Given the description of an element on the screen output the (x, y) to click on. 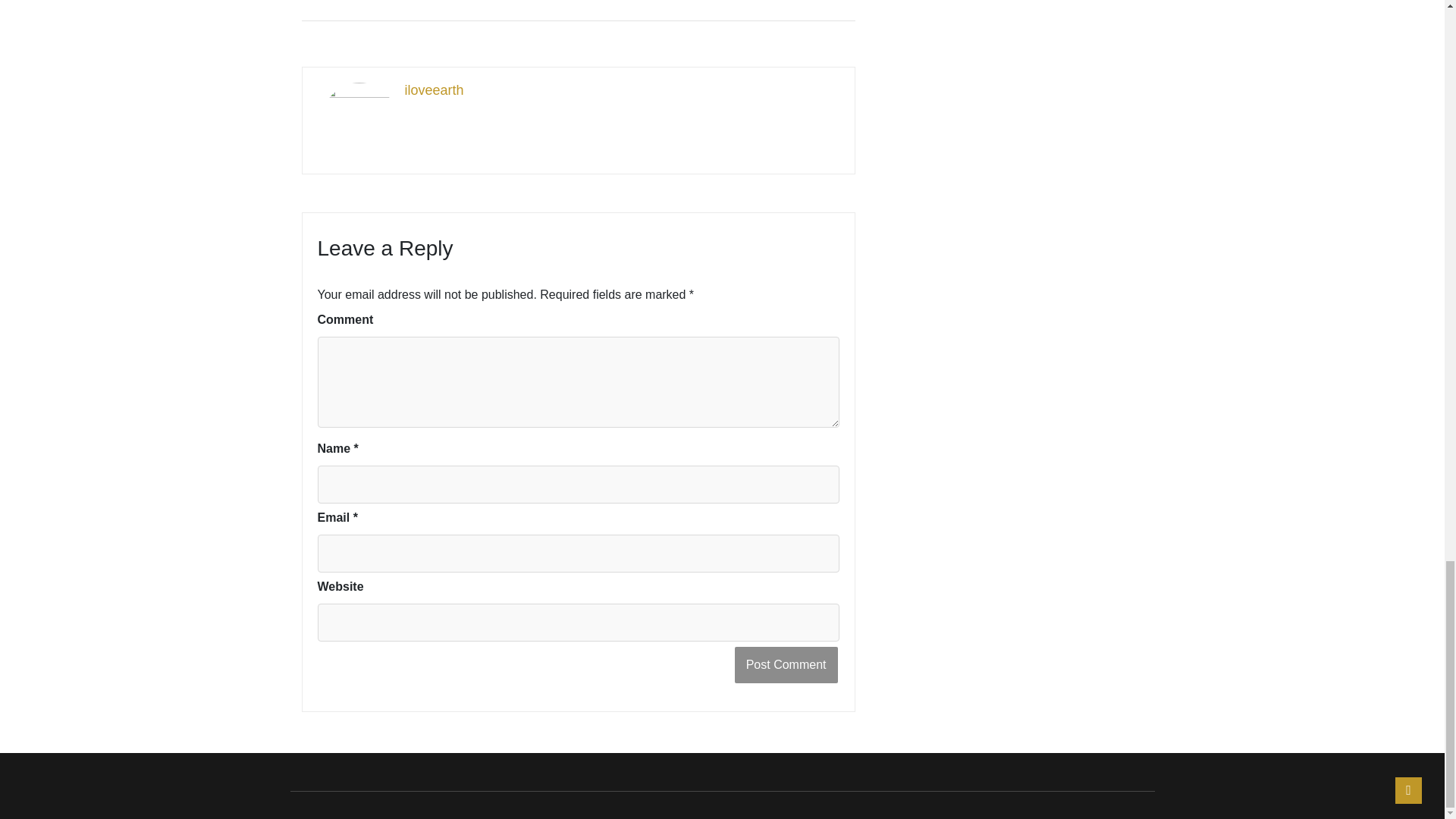
Post Comment (786, 664)
Post Comment (786, 664)
iloveearth (578, 90)
